Given the description of an element on the screen output the (x, y) to click on. 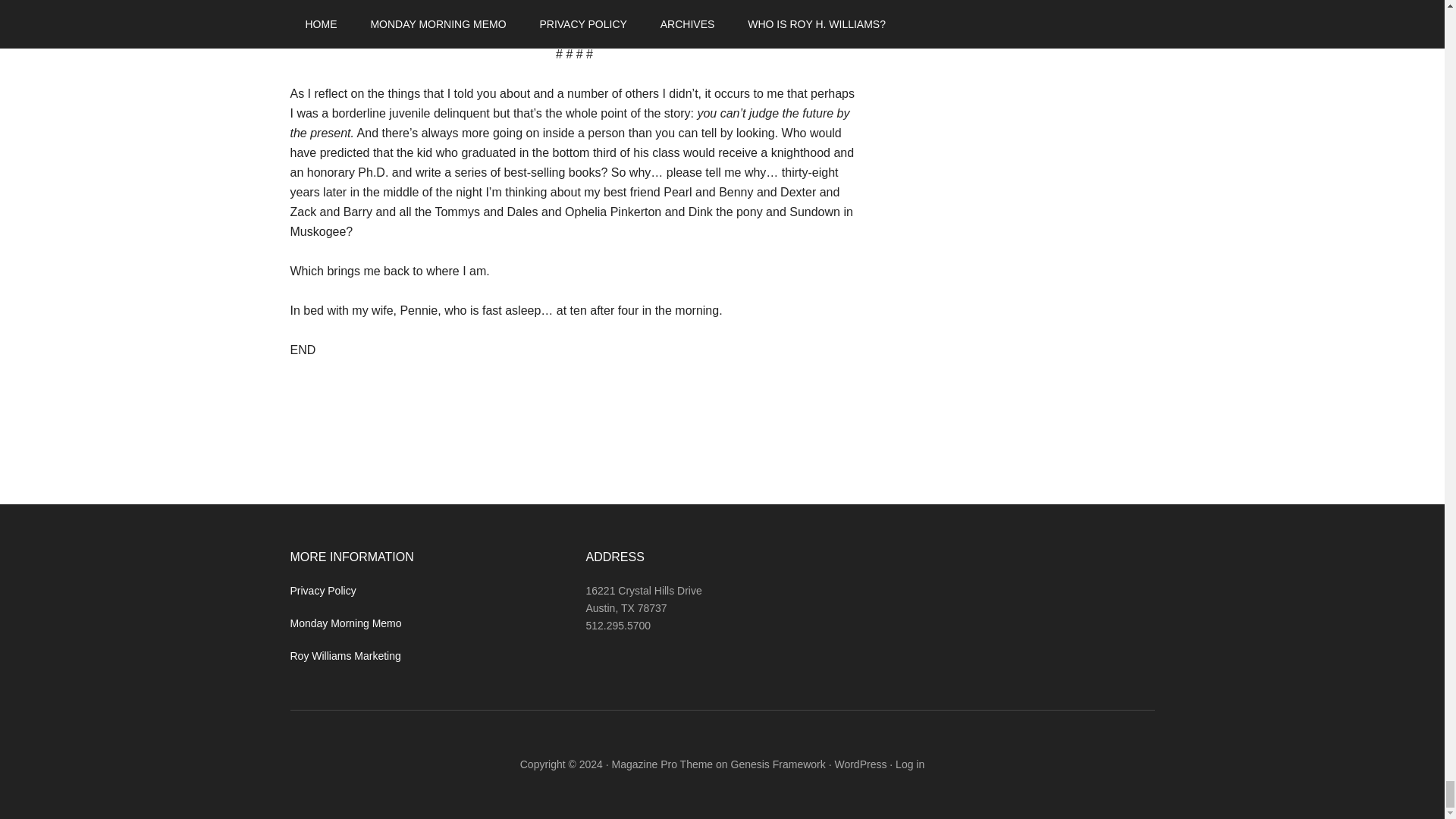
Genesis Framework (777, 764)
Log in (909, 764)
Magazine Pro Theme (662, 764)
Privacy Policy (322, 590)
Monday Morning Memo (345, 623)
Roy Williams Marketing (344, 655)
WordPress (860, 764)
